Given the description of an element on the screen output the (x, y) to click on. 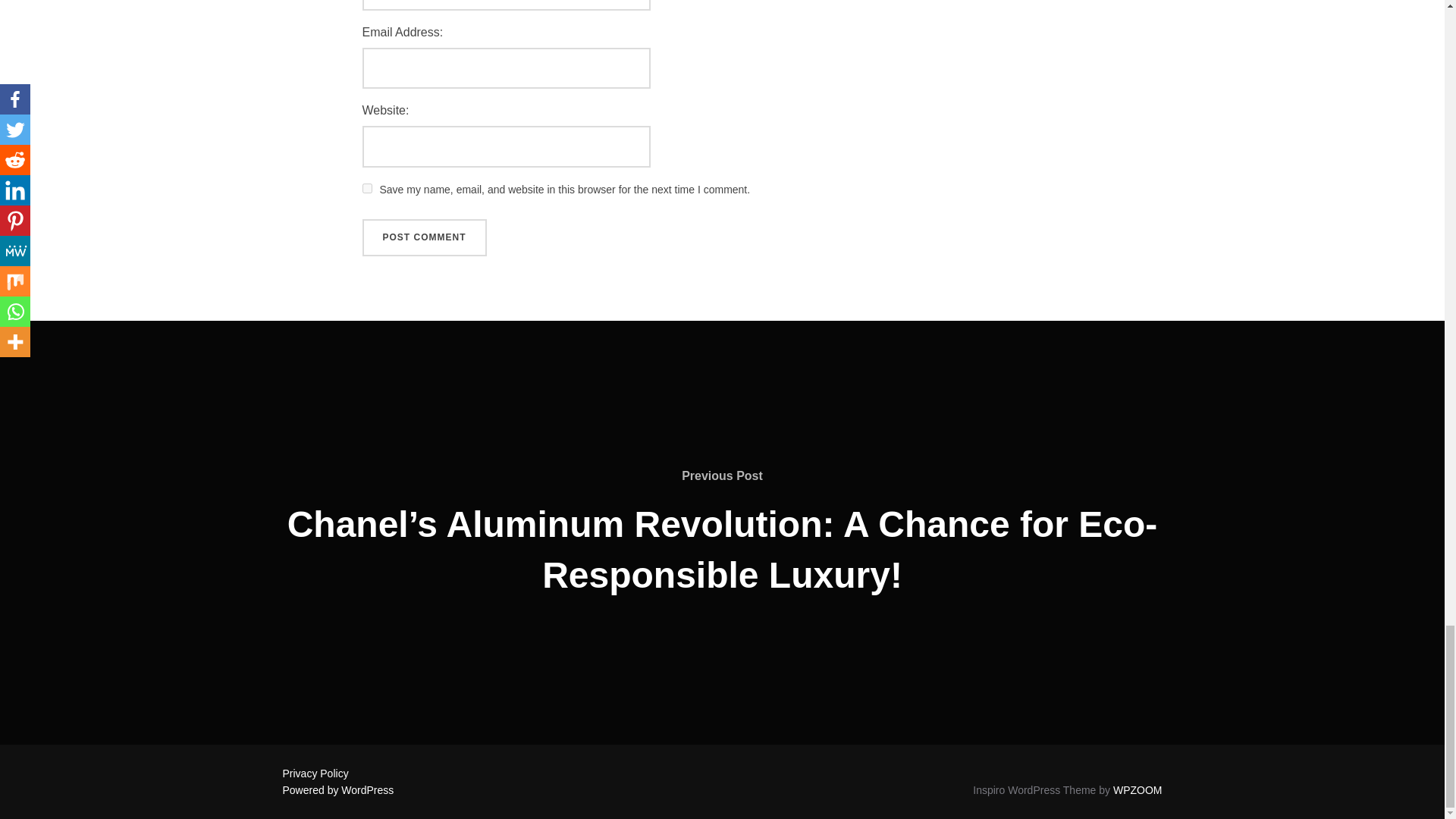
Post Comment (424, 238)
yes (367, 188)
